Given the description of an element on the screen output the (x, y) to click on. 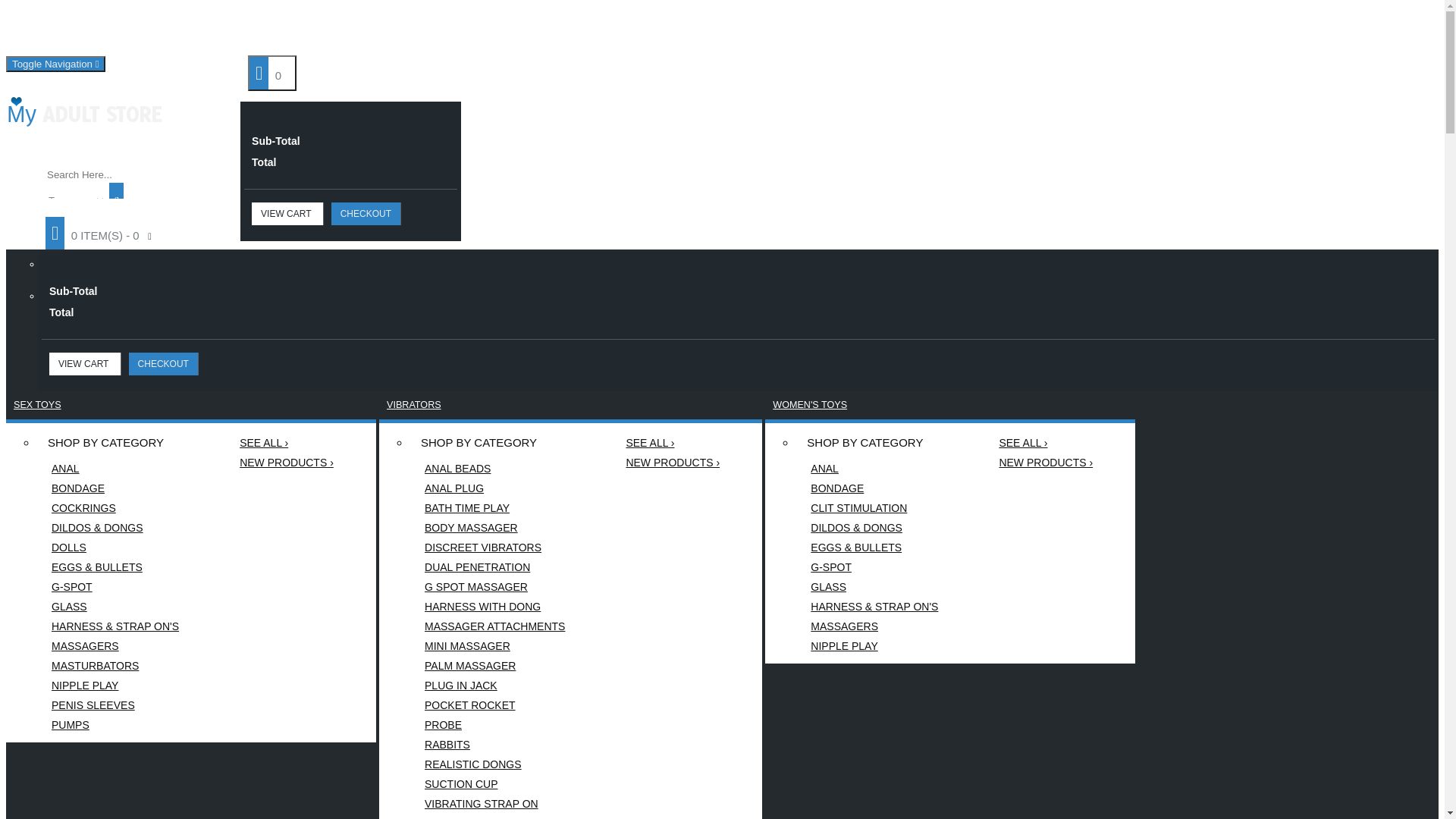
DISCREET VIBRATORS Element type: text (494, 547)
DILDOS & DONGS Element type: text (115, 527)
VIBRATING STRAP ON Element type: text (494, 803)
GLASS Element type: text (874, 586)
Help Element type: hover (89, 30)
Toggle Navigation Element type: text (55, 64)
0 Element type: text (271, 73)
ANAL PLUG Element type: text (494, 488)
GBP Element type: text (1426, 75)
CHECKOUT Element type: text (163, 363)
Login Element type: hover (292, 30)
WOMEN'S TOYS Element type: text (809, 404)
MASSAGER ATTACHMENTS Element type: text (494, 626)
MASSAGERS Element type: text (874, 626)
Shopping Cart Element type: text (384, 29)
GLASS Element type: text (115, 606)
PLUG IN JACK Element type: text (494, 685)
EGGS & BULLETS Element type: text (874, 547)
19yearoldcuties Element type: hover (84, 111)
Currency Element type: text (1351, 15)
Checkout Element type: text (464, 29)
BONDAGE Element type: text (115, 488)
Register Element type: hover (230, 30)
Login Element type: text (314, 29)
MASSAGERS Element type: text (115, 645)
HARNESS WITH DONG Element type: text (494, 606)
G-SPOT Element type: text (115, 586)
Advanced Search Element type: text (205, 209)
HARNESS & STRAP ON'S Element type: text (115, 626)
CLIT STIMULATION Element type: text (874, 507)
SEX TOYS Element type: text (37, 404)
PUMPS Element type: text (115, 724)
NIPPLE PLAY Element type: text (874, 645)
Create Wish List Element type: hover (135, 30)
Checkout Element type: hover (434, 30)
VIEW CART Element type: text (287, 213)
EUR Element type: text (1426, 58)
BODY MASSAGER Element type: text (494, 527)
HARNESS & STRAP ON'S Element type: text (874, 606)
DOLLS Element type: text (115, 547)
BATH TIME PLAY Element type: text (494, 507)
DUAL PENETRATION Element type: text (494, 567)
ANAL Element type: text (874, 468)
EGGS & BULLETS Element type: text (115, 567)
RABBITS Element type: text (494, 744)
CNY Element type: text (1426, 91)
PROBE Element type: text (494, 724)
VIEW CART Element type: text (85, 363)
NIPPLE PLAY Element type: text (115, 685)
CHECKOUT Element type: text (366, 213)
PALM MASSAGER Element type: text (494, 665)
Home Element type: hover (38, 30)
Help Element type: text (108, 29)
MASTURBATORS Element type: text (115, 665)
POCKET ROCKET Element type: text (494, 705)
Shopping Cart Element type: hover (342, 30)
COCKRINGS Element type: text (115, 507)
G-SPOT Element type: text (874, 567)
MINI MASSAGER Element type: text (494, 645)
SUCTION CUP Element type: text (494, 783)
CAD Element type: text (1426, 108)
PENIS SLEEVES Element type: text (115, 705)
Create Wishlist Element type: text (179, 29)
0 ITEM(S) - 0 Element type: text (105, 232)
AUD Element type: text (1426, 24)
Register Element type: text (258, 29)
Home Element type: text (60, 29)
REALISTIC DONGS Element type: text (494, 764)
USD Element type: text (1426, 41)
G SPOT MASSAGER Element type: text (494, 586)
ANAL Element type: text (115, 468)
VIBRATORS Element type: text (413, 404)
ANAL BEADS Element type: text (494, 468)
BONDAGE Element type: text (874, 488)
DILDOS & DONGS Element type: text (874, 527)
